Given the description of an element on the screen output the (x, y) to click on. 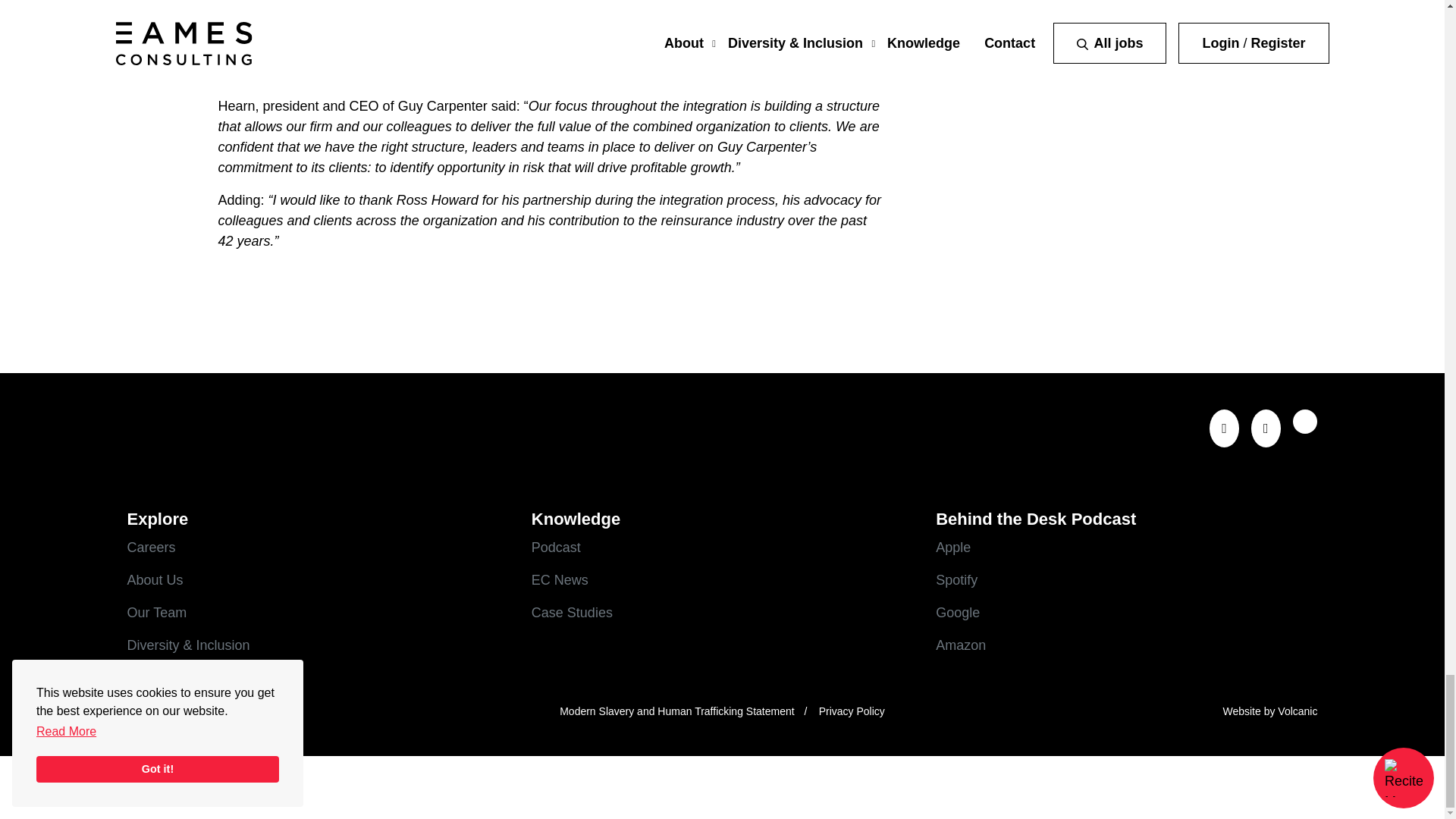
Our Team (318, 612)
About Us (318, 580)
EC News (721, 580)
Case Studies (721, 612)
Careers (318, 547)
Podcast (721, 547)
